Given the description of an element on the screen output the (x, y) to click on. 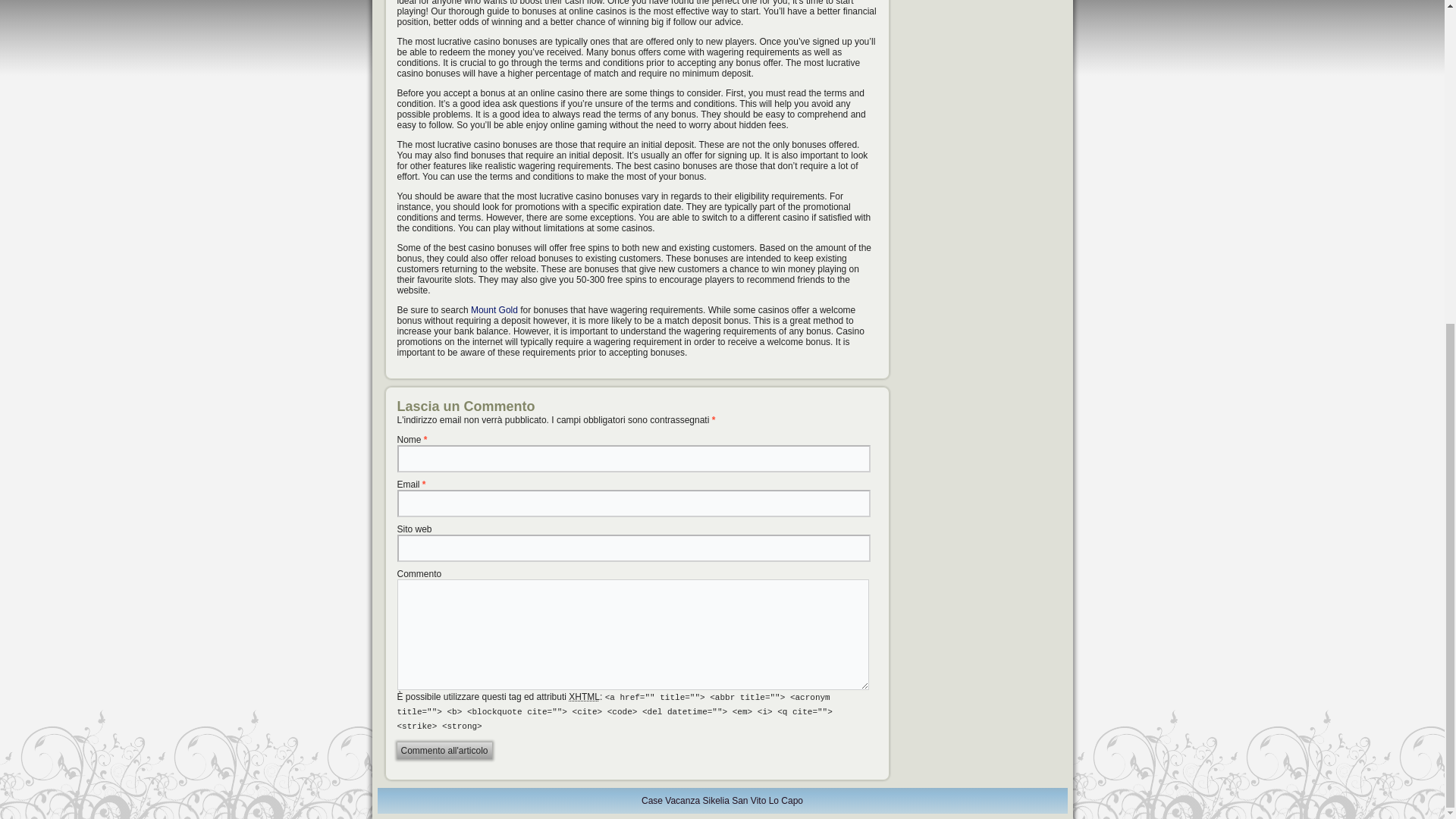
Mount Gold (494, 309)
Commento all'articolo (444, 750)
Commento all'articolo (444, 750)
